Given the description of an element on the screen output the (x, y) to click on. 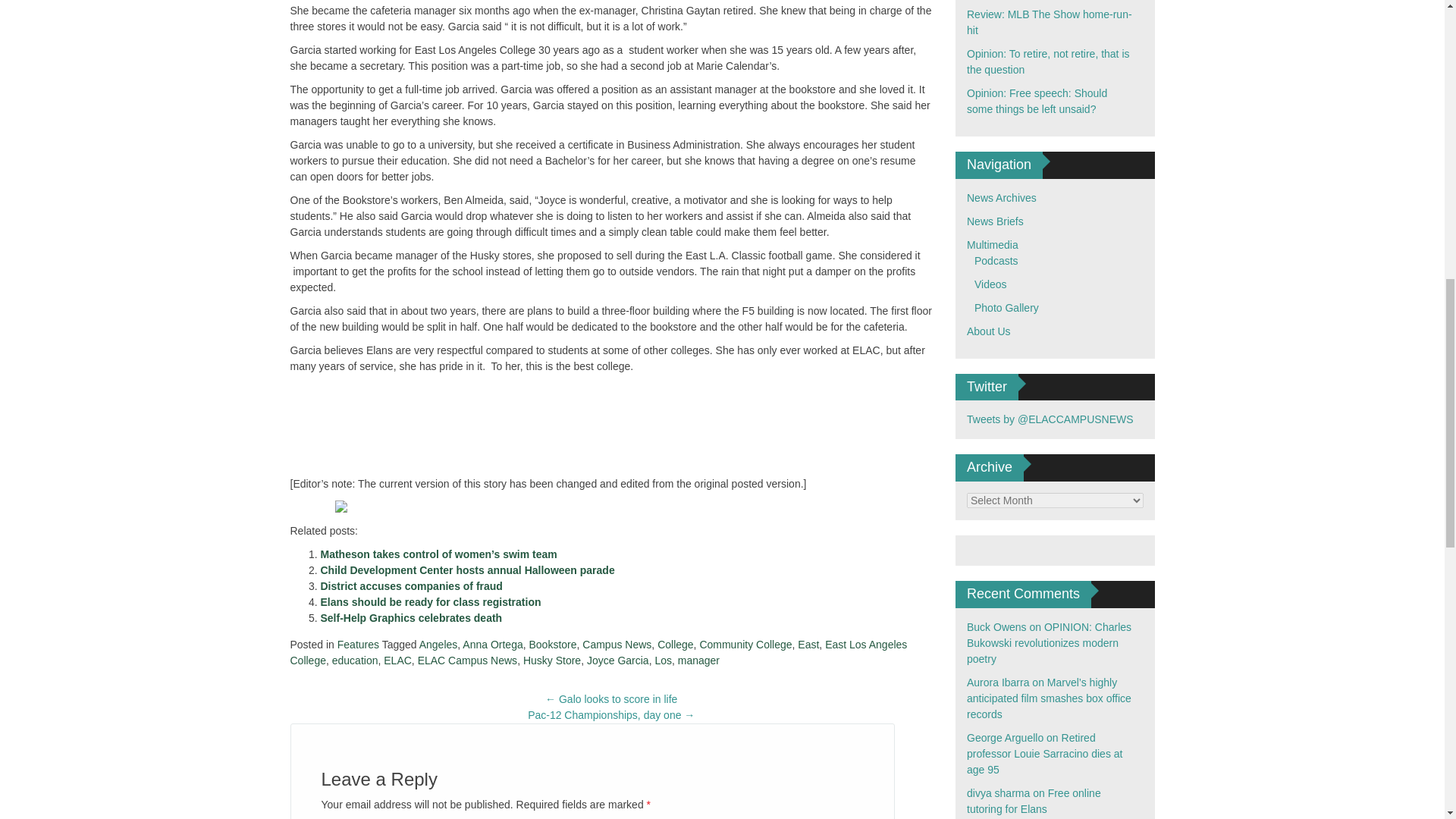
Child Development Center hosts annual Halloween parade (467, 570)
Bookstore (552, 644)
Community College (745, 644)
Anna Ortega (492, 644)
Elans should be ready for class registration (430, 602)
Child Development Center hosts annual Halloween parade (467, 570)
District accuses companies of fraud (411, 585)
Campus News (616, 644)
Self-Help Graphics celebrates death (411, 617)
District accuses companies of fraud (411, 585)
Elans should be ready for class registration (430, 602)
Angeles (438, 644)
Self-Help Graphics celebrates death (411, 617)
College (675, 644)
Features (357, 644)
